Given the description of an element on the screen output the (x, y) to click on. 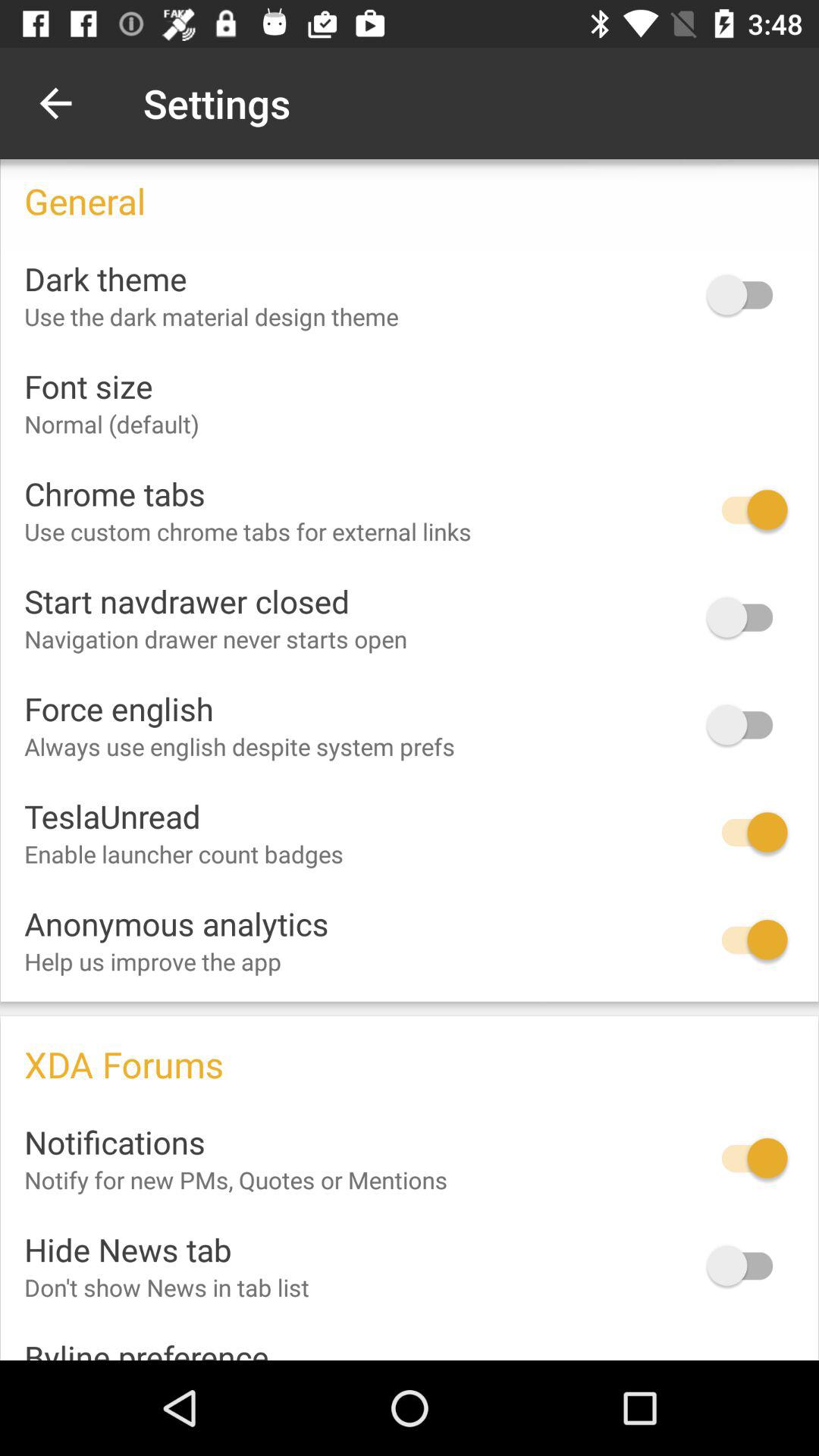
open item above the general (55, 103)
